Given the description of an element on the screen output the (x, y) to click on. 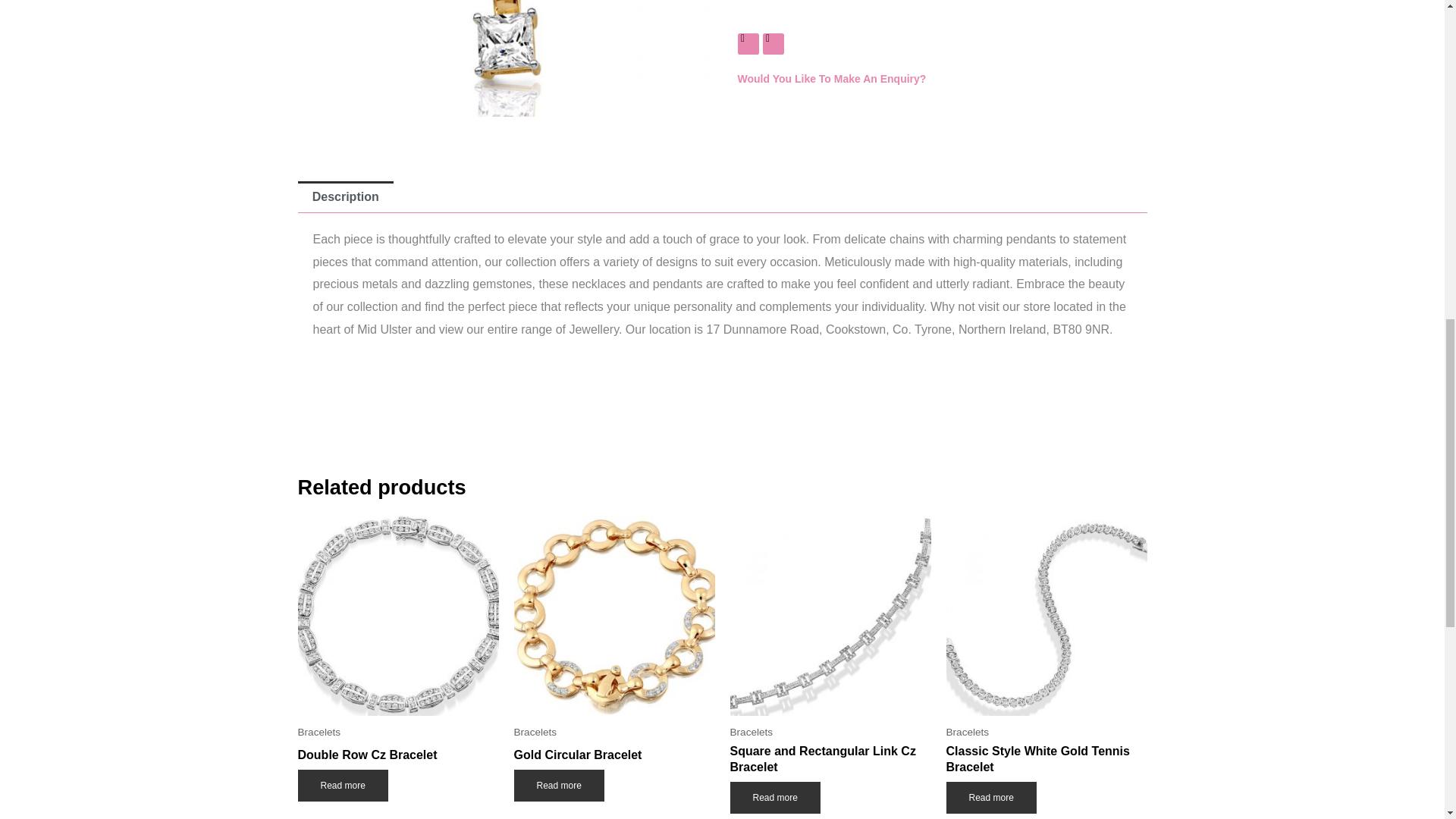
Double Row Cz Bracelet (397, 758)
Read more (774, 798)
Instagram (773, 43)
Read more (558, 785)
Read more (342, 785)
Square and Rectangular Link Cz Bracelet (829, 762)
Description (345, 196)
Facebook (747, 43)
Gold Circular Bracelet (613, 758)
